Given the description of an element on the screen output the (x, y) to click on. 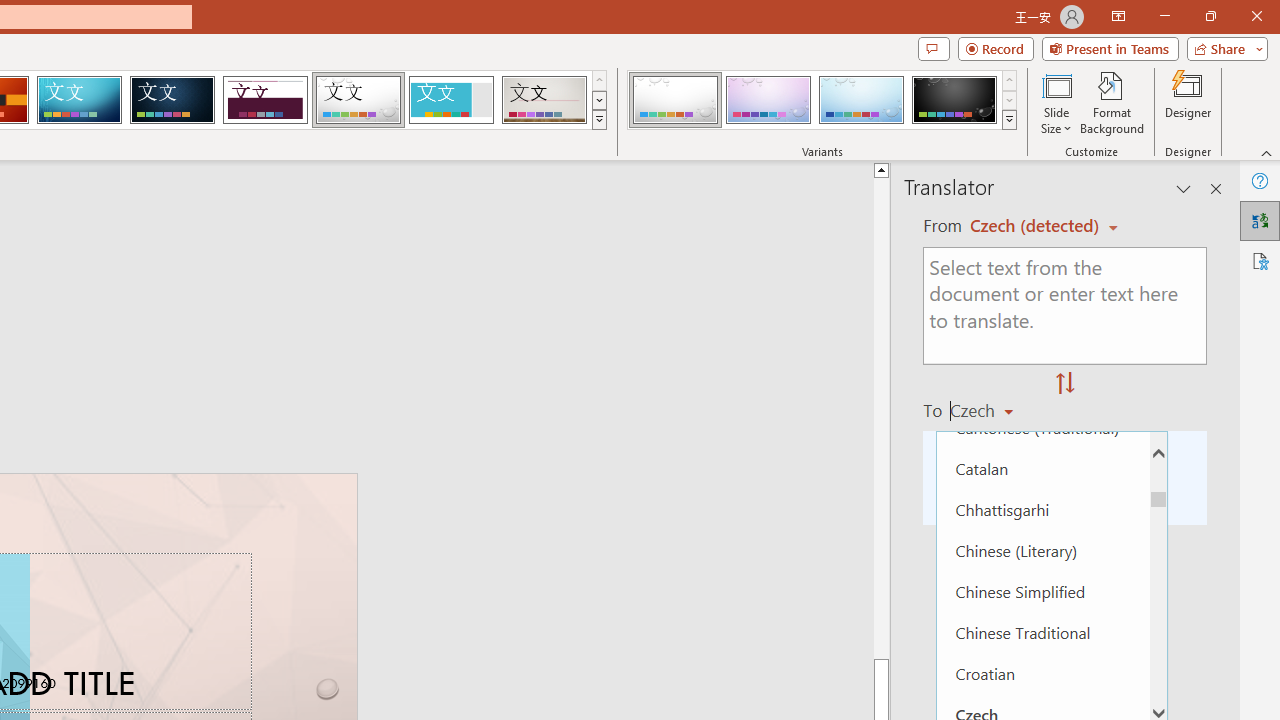
Slide Size (1056, 102)
Croatian (1042, 673)
Format Background (1111, 102)
Cantonese (Traditional) (1042, 426)
Bhojpuri (1042, 263)
Czech (detected) (1037, 225)
Basque (1042, 222)
Dividend (265, 100)
